Given the description of an element on the screen output the (x, y) to click on. 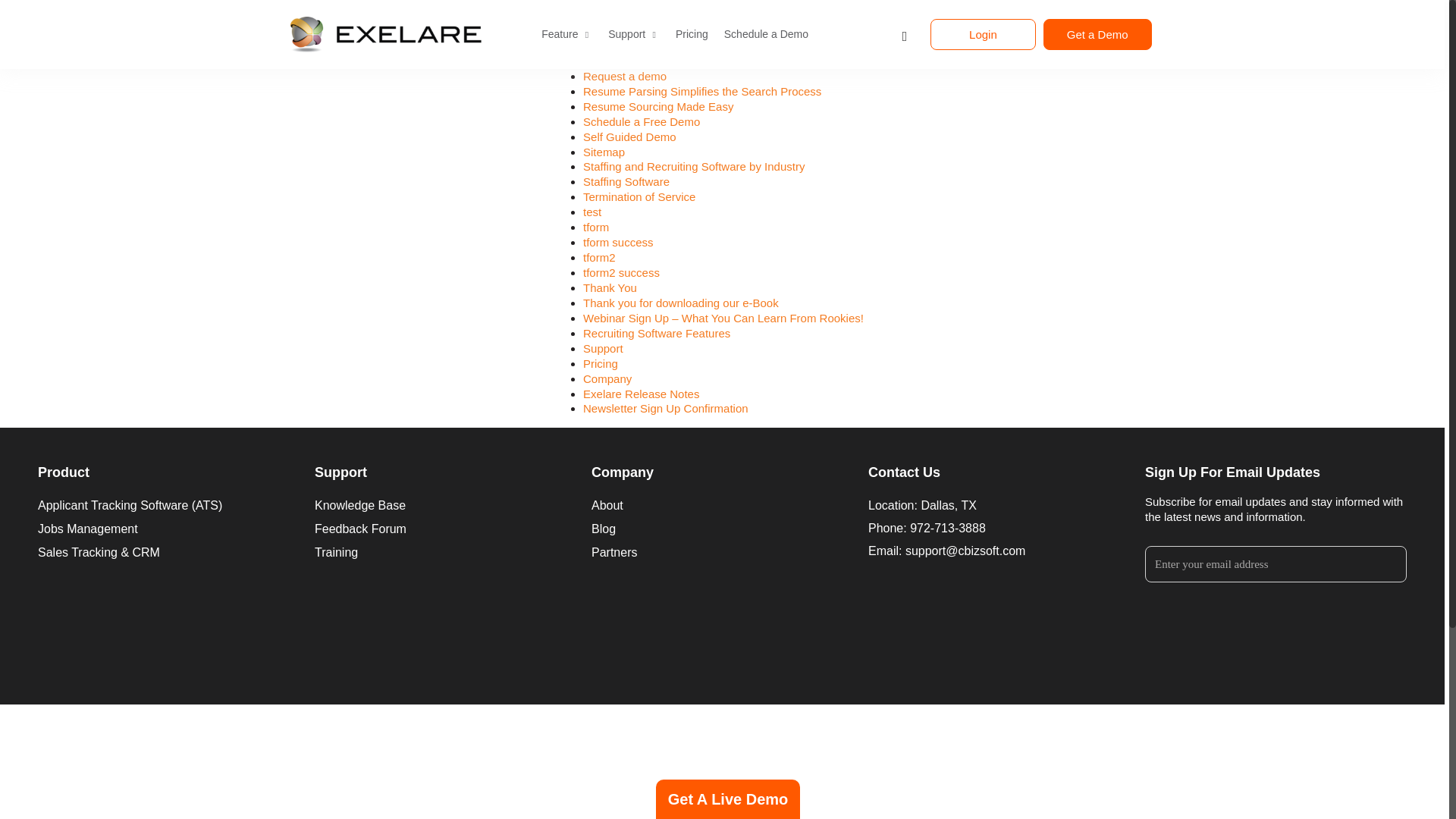
Recruiting Software for the High-Tech Sector (695, 60)
Recruiting Software for Advertising and Marketing (707, 15)
Recruiting Software for Operations Managers (696, 30)
Pricing (600, 3)
Resume Parsing Simplifies the Search Process (702, 91)
Recruiting Software for Sales (656, 45)
Request a demo (624, 75)
